Given the description of an element on the screen output the (x, y) to click on. 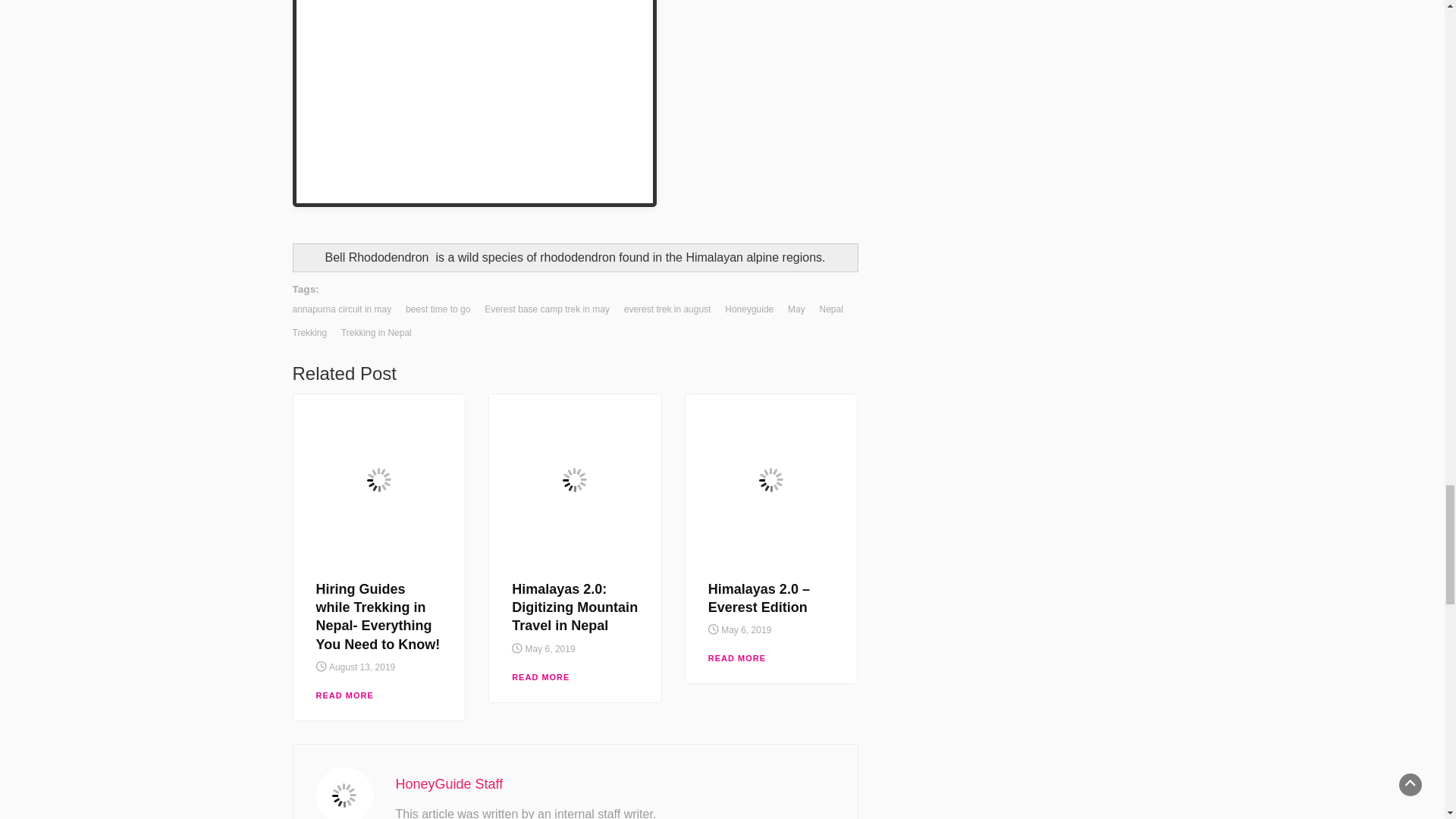
everest trek in august (667, 308)
Everest base camp trek in may (547, 308)
beest time to go (438, 308)
annapurna circuit in may (341, 308)
May (796, 308)
Honeyguide (749, 308)
